Given the description of an element on the screen output the (x, y) to click on. 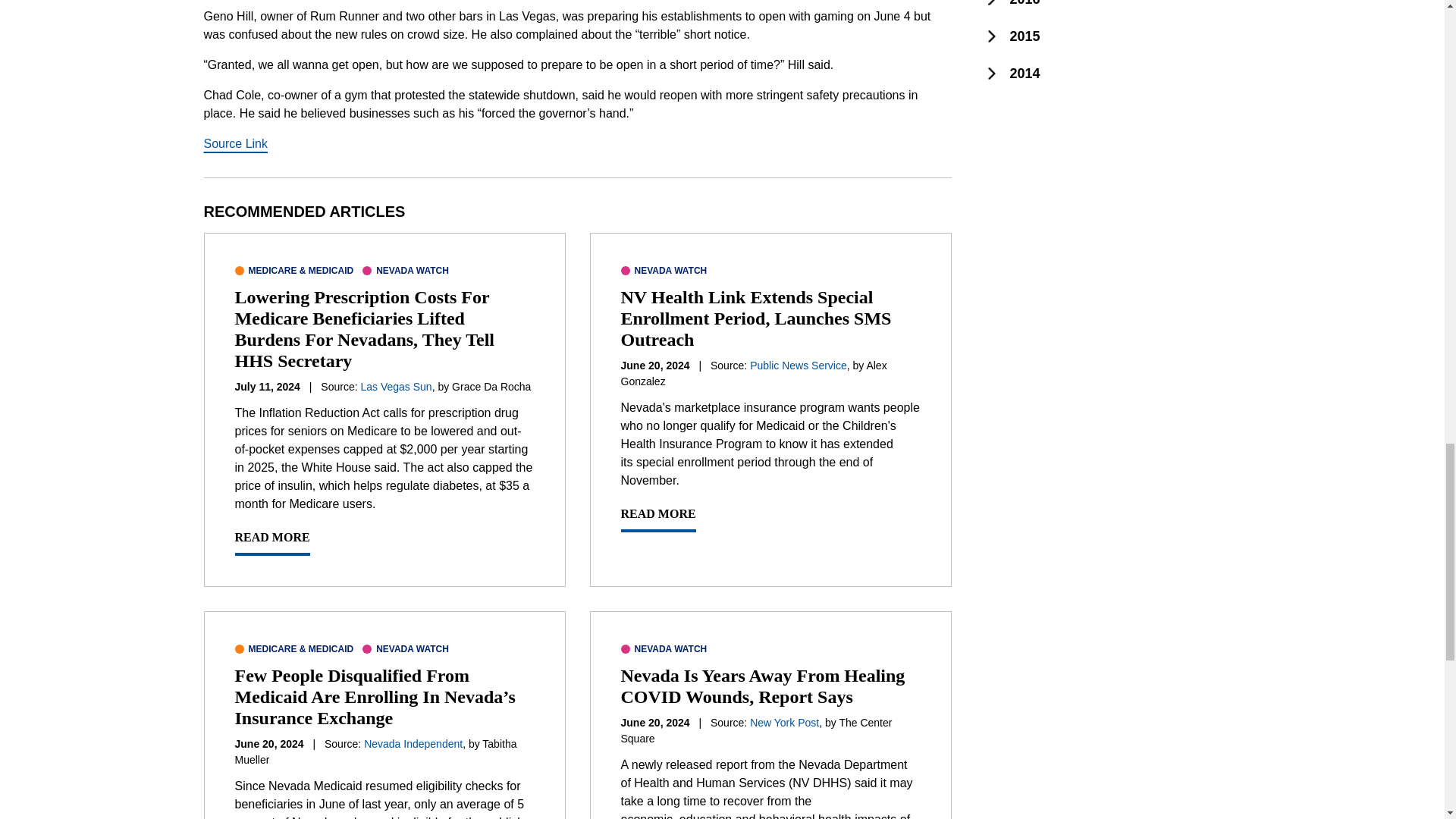
Source Link (235, 143)
READ MORE (657, 518)
Nevada Independent (413, 743)
Nevada Is Years Away From Healing COVID Wounds, Report Says (762, 685)
NEVADA WATCH (405, 649)
Public News Service (798, 365)
NEVADA WATCH (663, 649)
NEVADA WATCH (405, 270)
